Given the description of an element on the screen output the (x, y) to click on. 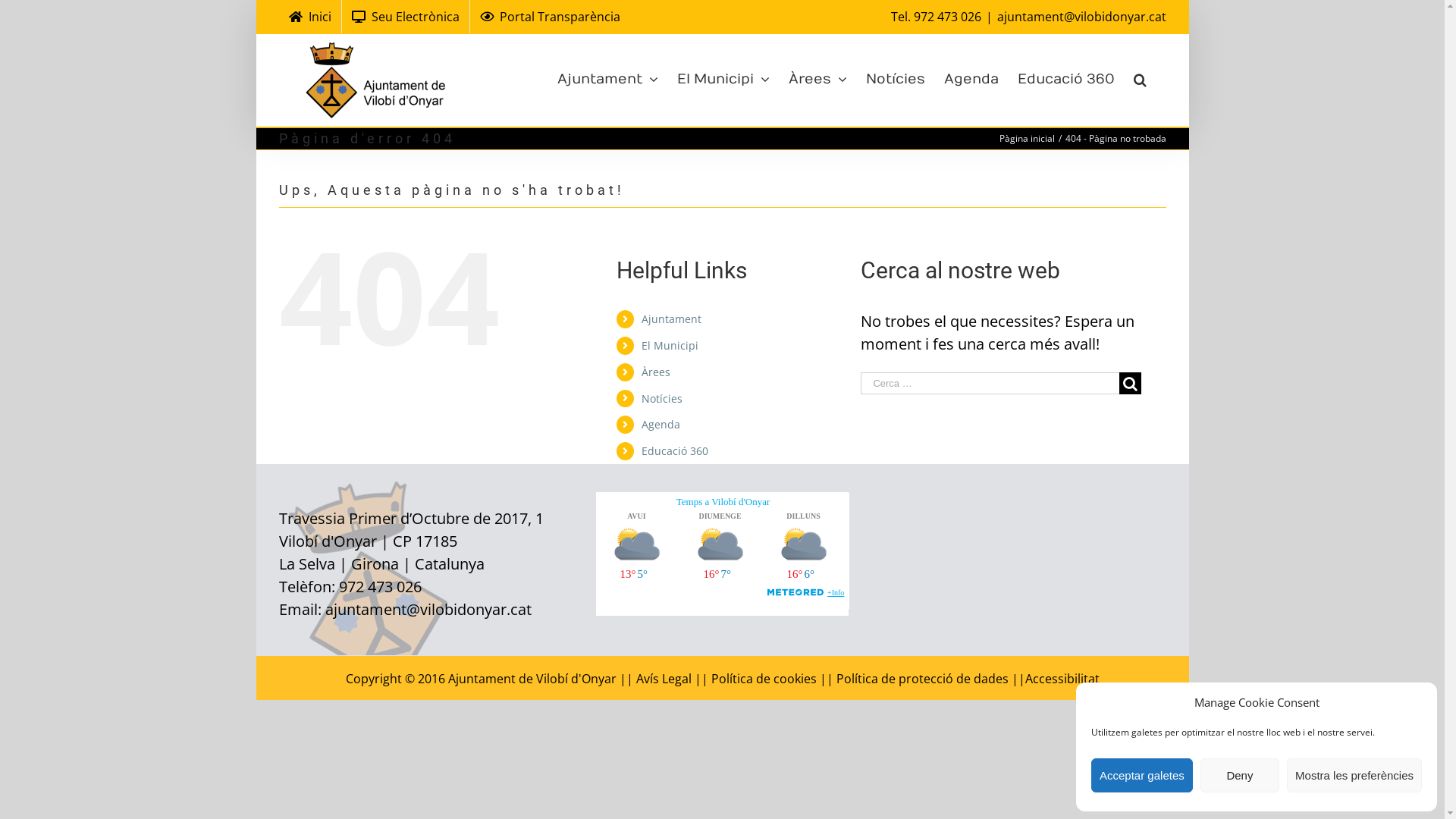
Agenda Element type: text (970, 77)
Accessibilitat Element type: text (1062, 678)
Inici Element type: text (310, 16)
ajuntament@vilobidonyar.cat Element type: text (427, 609)
Deny Element type: text (1239, 775)
Ajuntament Element type: text (606, 77)
Acceptar galetes Element type: text (1141, 775)
El Municipi Element type: text (722, 77)
Cerca Element type: hover (1139, 77)
El Municipi Element type: text (669, 345)
Ajuntament Element type: text (671, 318)
Agenda Element type: text (660, 424)
ajuntament@vilobidonyar.cat Element type: text (1080, 16)
